Given the description of an element on the screen output the (x, y) to click on. 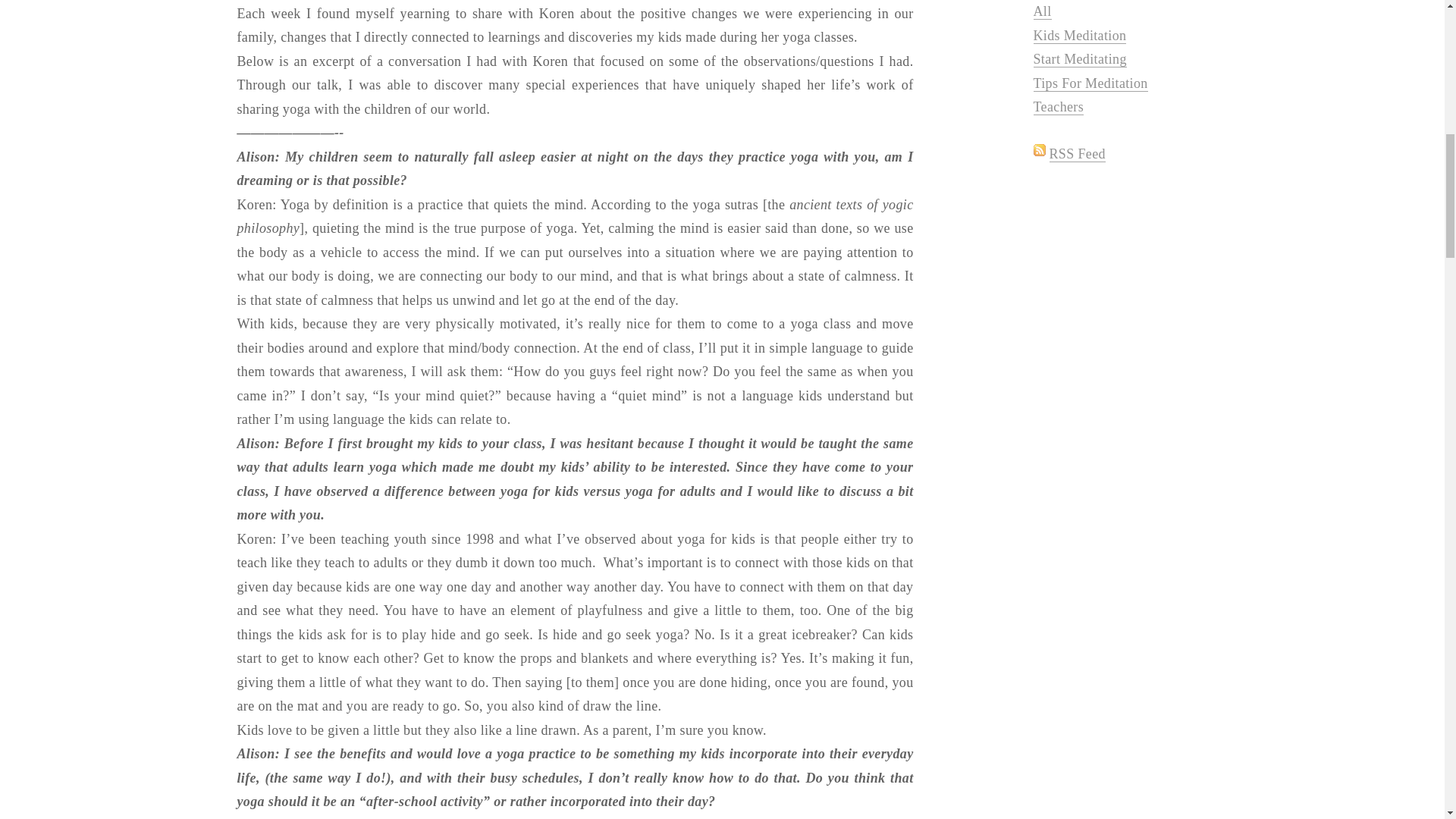
Start Meditating (1078, 59)
All (1041, 11)
Tips For Meditation Teachers (1089, 96)
Kids Meditation (1078, 35)
RSS Feed (1077, 154)
